Given the description of an element on the screen output the (x, y) to click on. 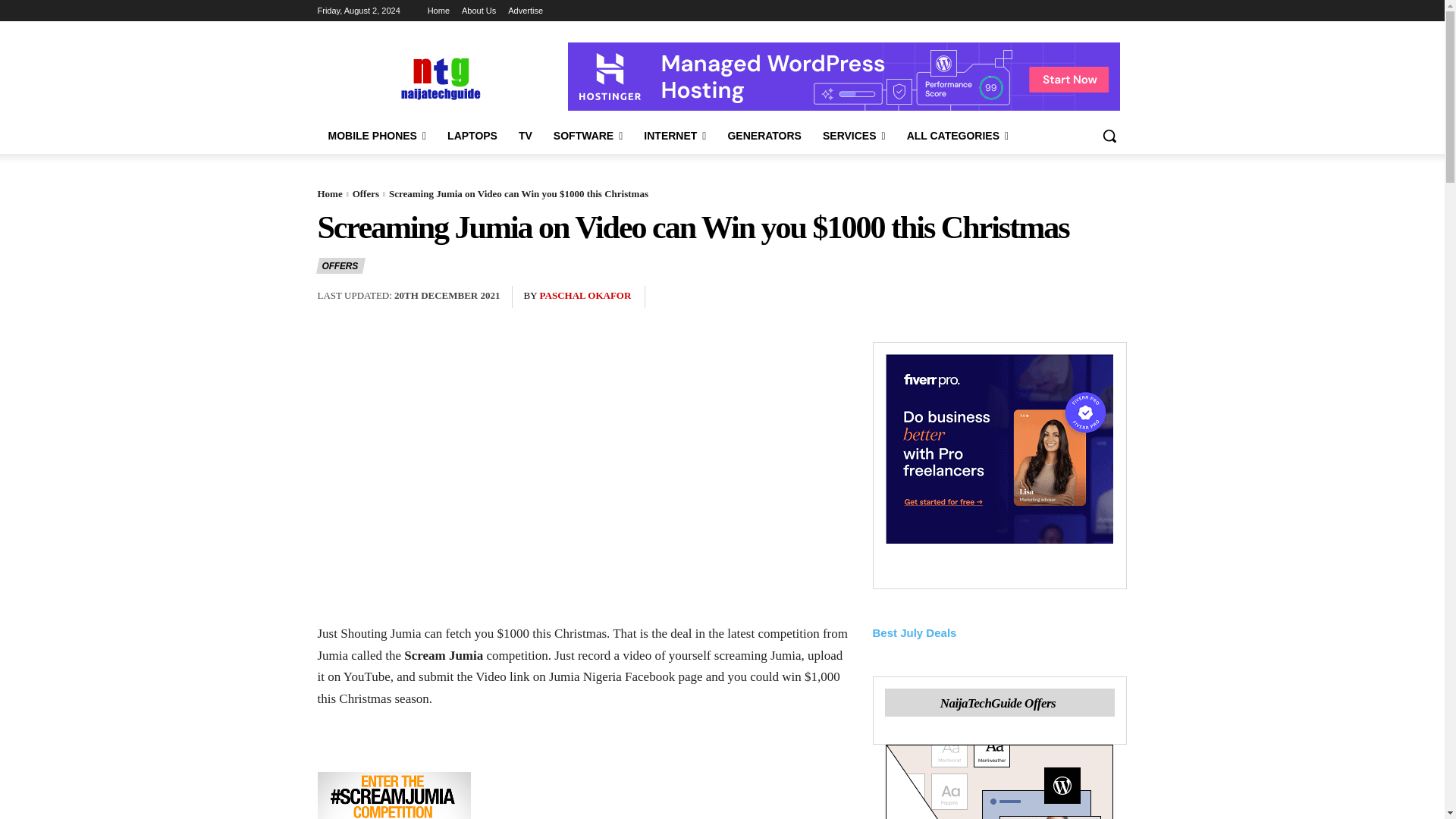
About Us (478, 10)
Advertise and Promote your Business on NaijaTechGuide NTG (525, 10)
Advertise (525, 10)
NaijaTechGuide (438, 76)
MOBILE PHONES (376, 135)
NaijaTechGuide (438, 76)
Home (438, 10)
